Given the description of an element on the screen output the (x, y) to click on. 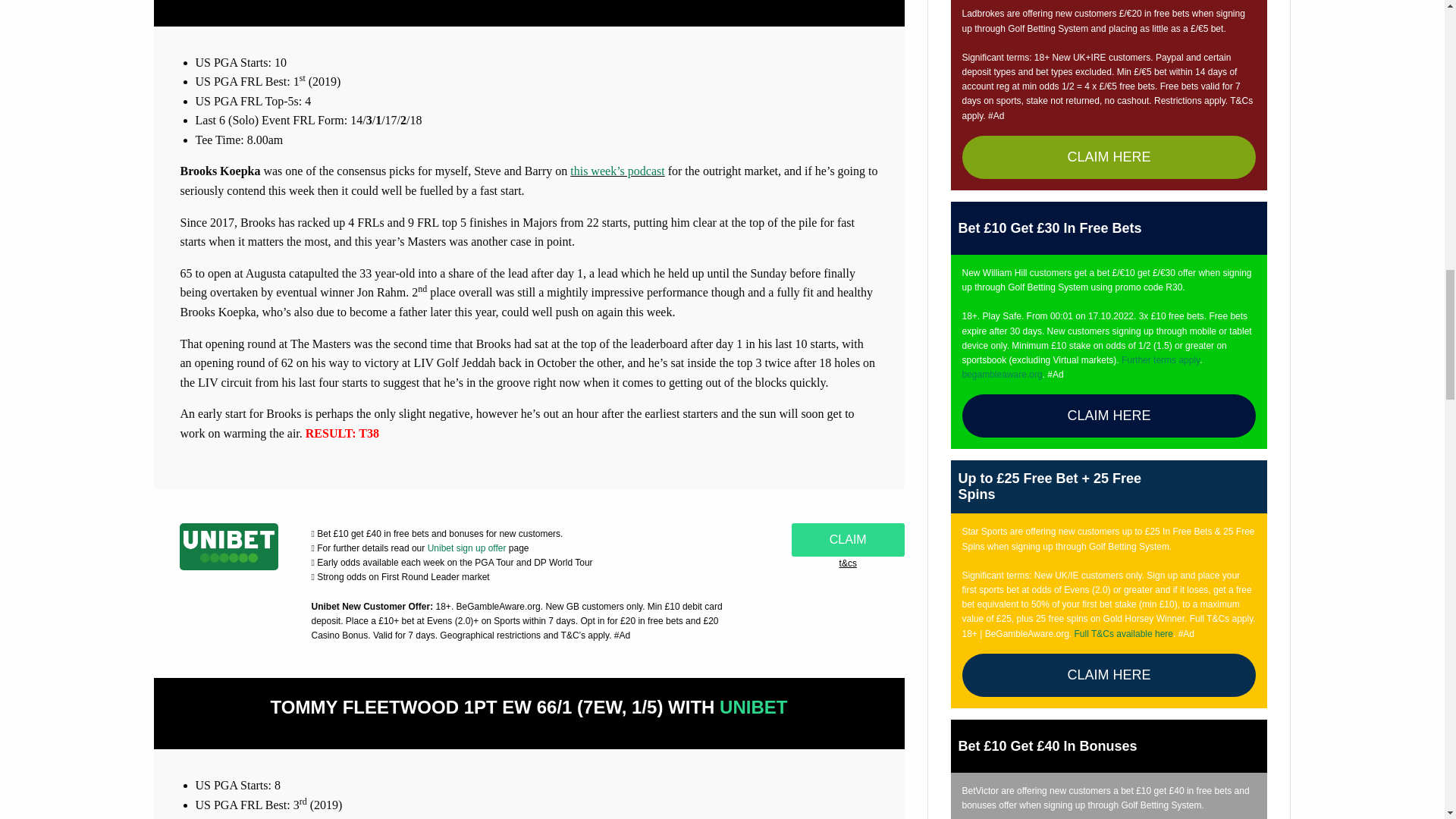
CLAIM (848, 539)
UNIBET (753, 706)
Unibet sign up offer (467, 547)
